Given the description of an element on the screen output the (x, y) to click on. 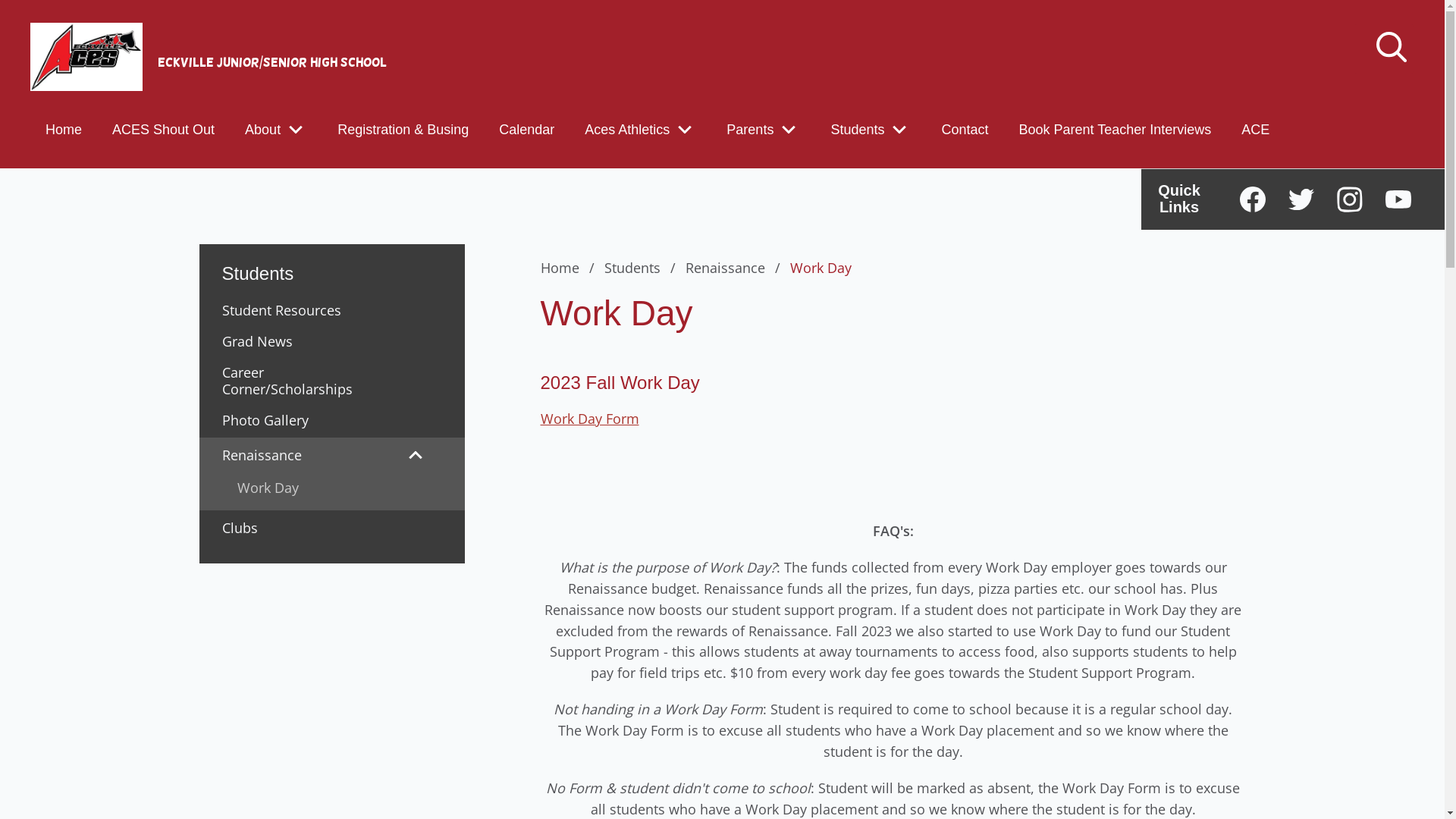
Clubs Element type: text (287, 527)
Aces Athletics Element type: text (626, 129)
Students Element type: text (641, 267)
Registration & Busing Element type: text (402, 129)
Quick Links Element type: text (1179, 198)
Students Element type: text (857, 129)
Work Day Form Element type: text (588, 418)
ACE Element type: text (1255, 129)
Eckville Junior/Senior High School's YouTube Element type: hover (1398, 199)
Contact Element type: text (964, 129)
Grad News Element type: text (287, 340)
Book Parent Teacher Interviews Element type: text (1115, 129)
home Element type: hover (86, 56)
Eckville Junior/Senior High School's Twitter Element type: hover (1301, 199)
ACES Shout Out Element type: text (163, 129)
Eckville Junior/Senior High School's Facebook Element type: hover (1252, 199)
Renaissance Element type: text (735, 267)
Students Element type: text (331, 264)
Search Element type: text (44, 19)
About Element type: text (262, 129)
Eckville Junior/Senior High School's Instagram Element type: hover (1349, 199)
Photo Gallery Element type: text (287, 419)
Calendar Element type: text (526, 129)
Work Day Element type: text (331, 487)
Parents Element type: text (749, 129)
Home Element type: text (569, 267)
Student Resources Element type: text (287, 309)
Career Corner/Scholarships Element type: text (287, 380)
Home Element type: text (63, 129)
Renaissance Element type: text (284, 454)
